Given the description of an element on the screen output the (x, y) to click on. 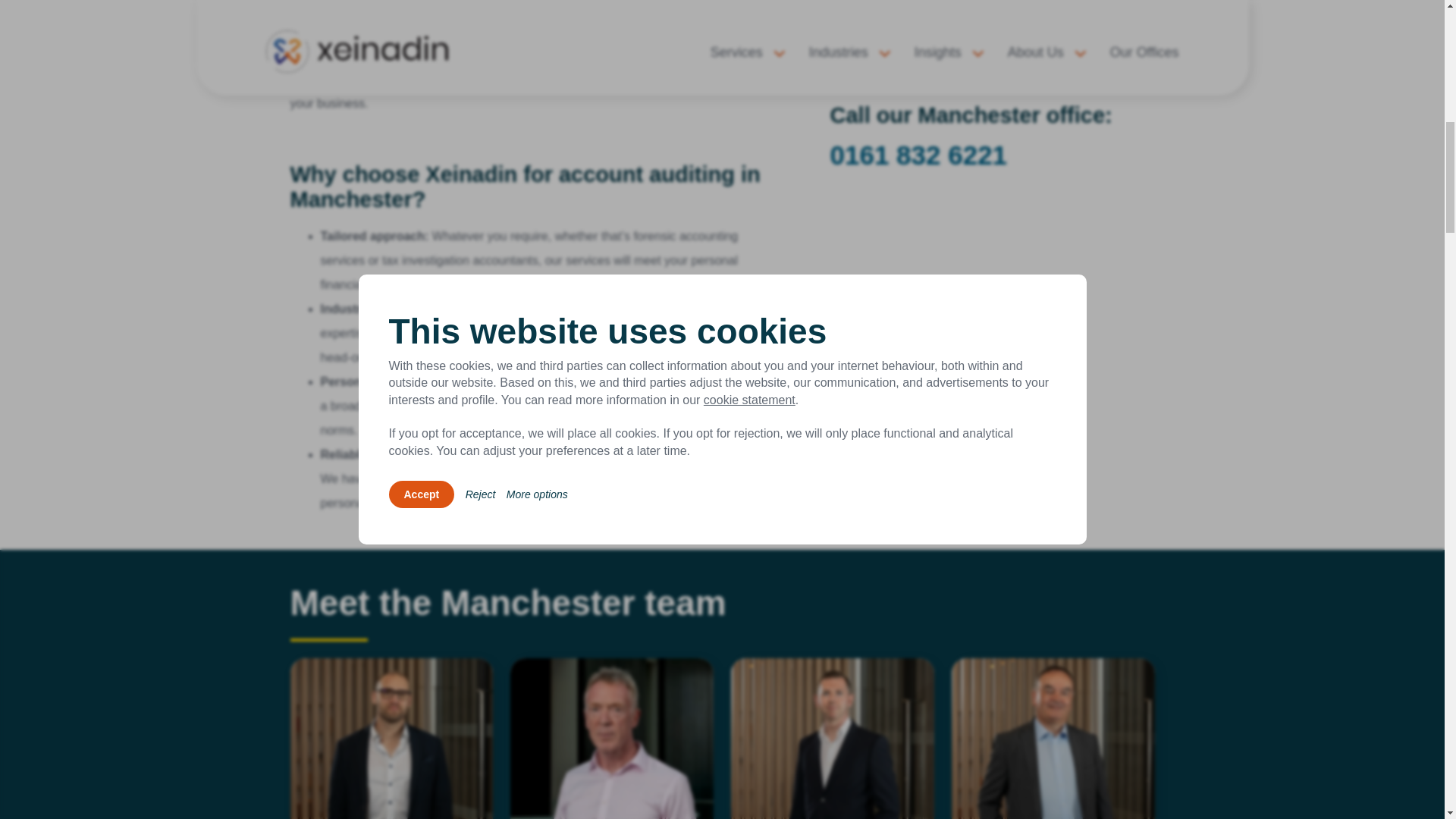
KJG - Xeinadin Group, Manchester, UK (991, 43)
